Given the description of an element on the screen output the (x, y) to click on. 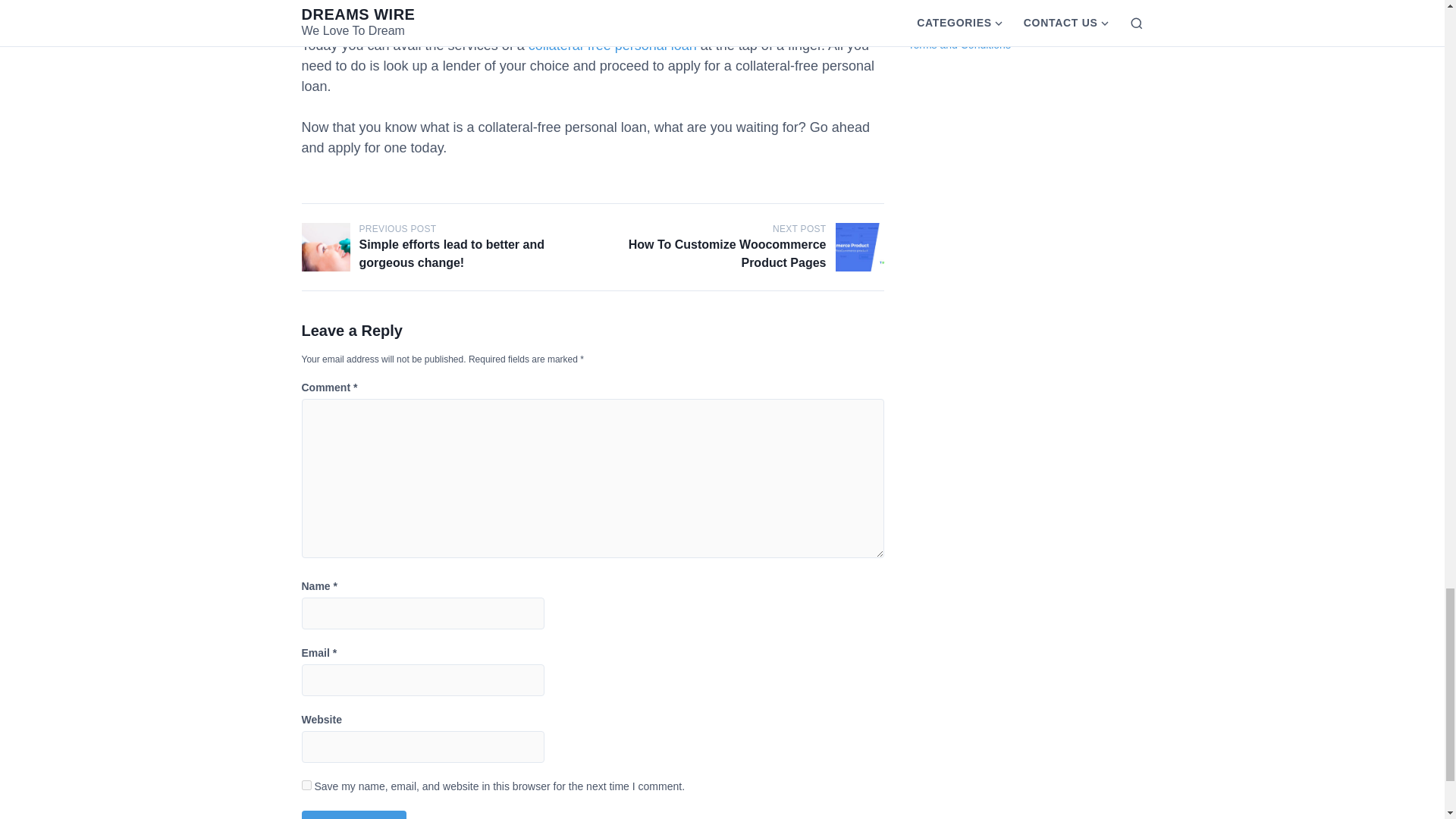
How To Customize Woocommerce Product Pages (859, 246)
Simple efforts lead to better and gorgeous change! (325, 246)
yes (306, 785)
Post Comment (354, 814)
